Given the description of an element on the screen output the (x, y) to click on. 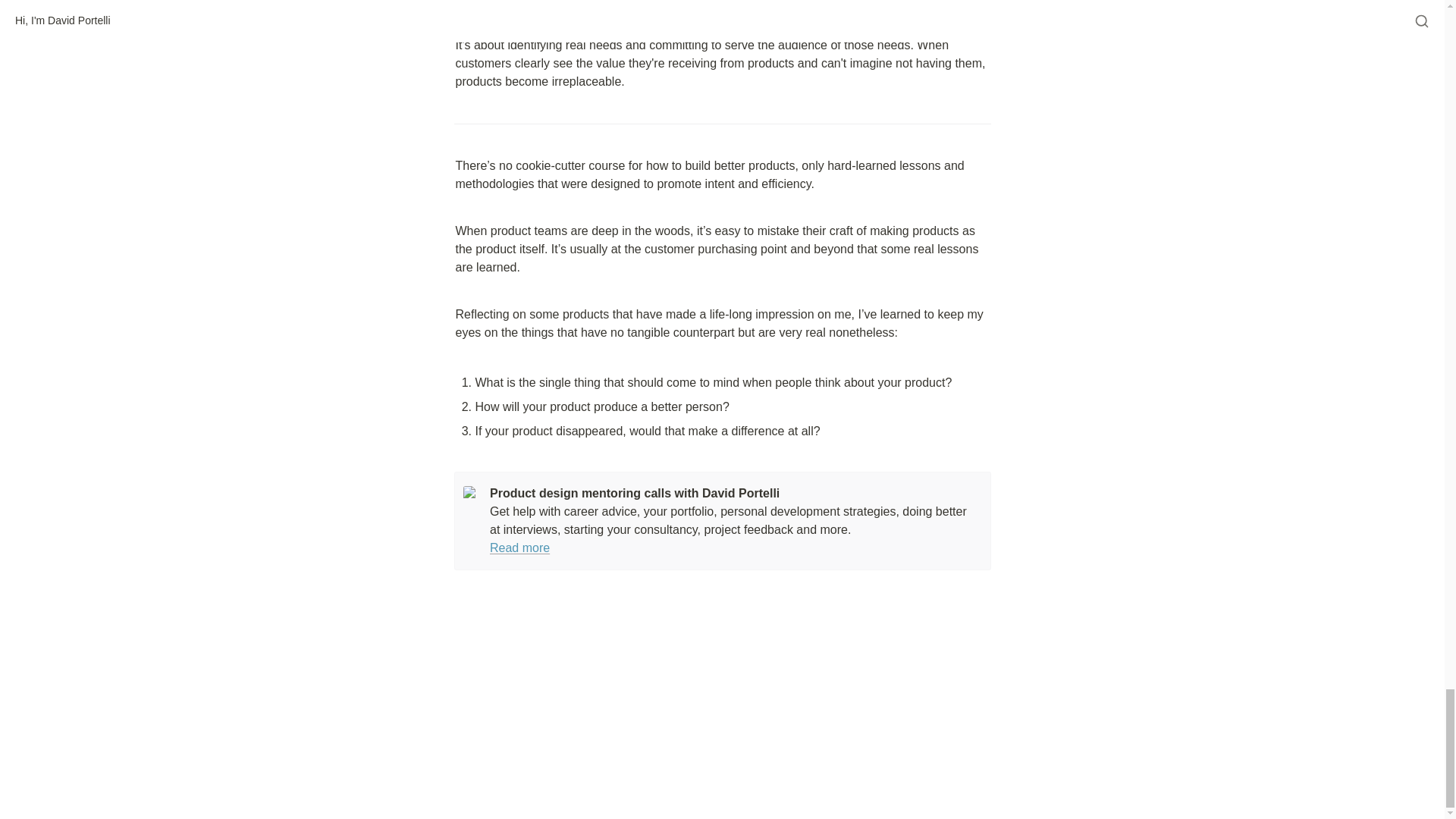
Read more (519, 547)
